Given the description of an element on the screen output the (x, y) to click on. 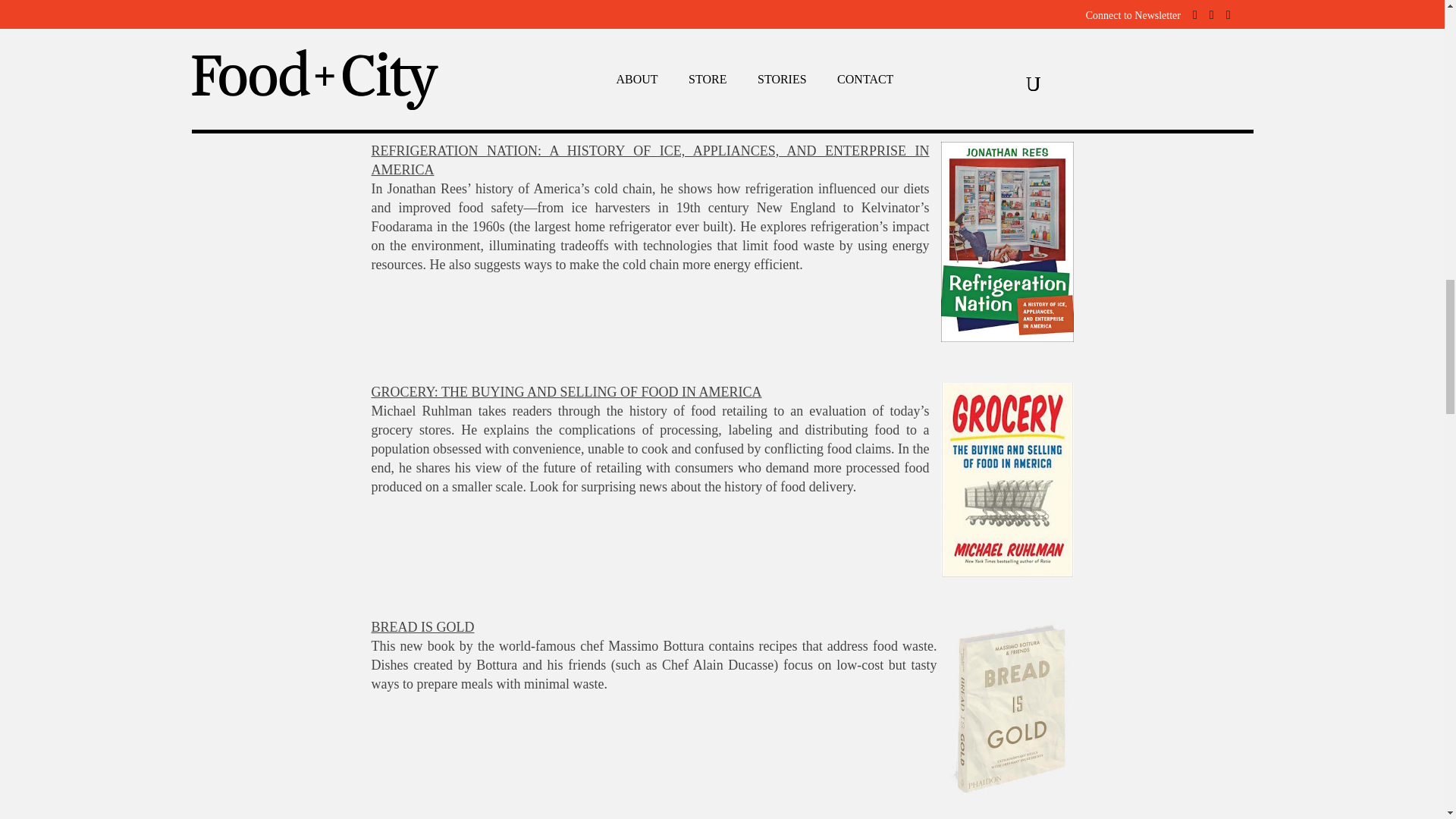
BREAD IS GOLD (422, 626)
GROCERY: THE BUYING AND SELLING OF FOOD IN AMERICA (566, 391)
